Given the description of an element on the screen output the (x, y) to click on. 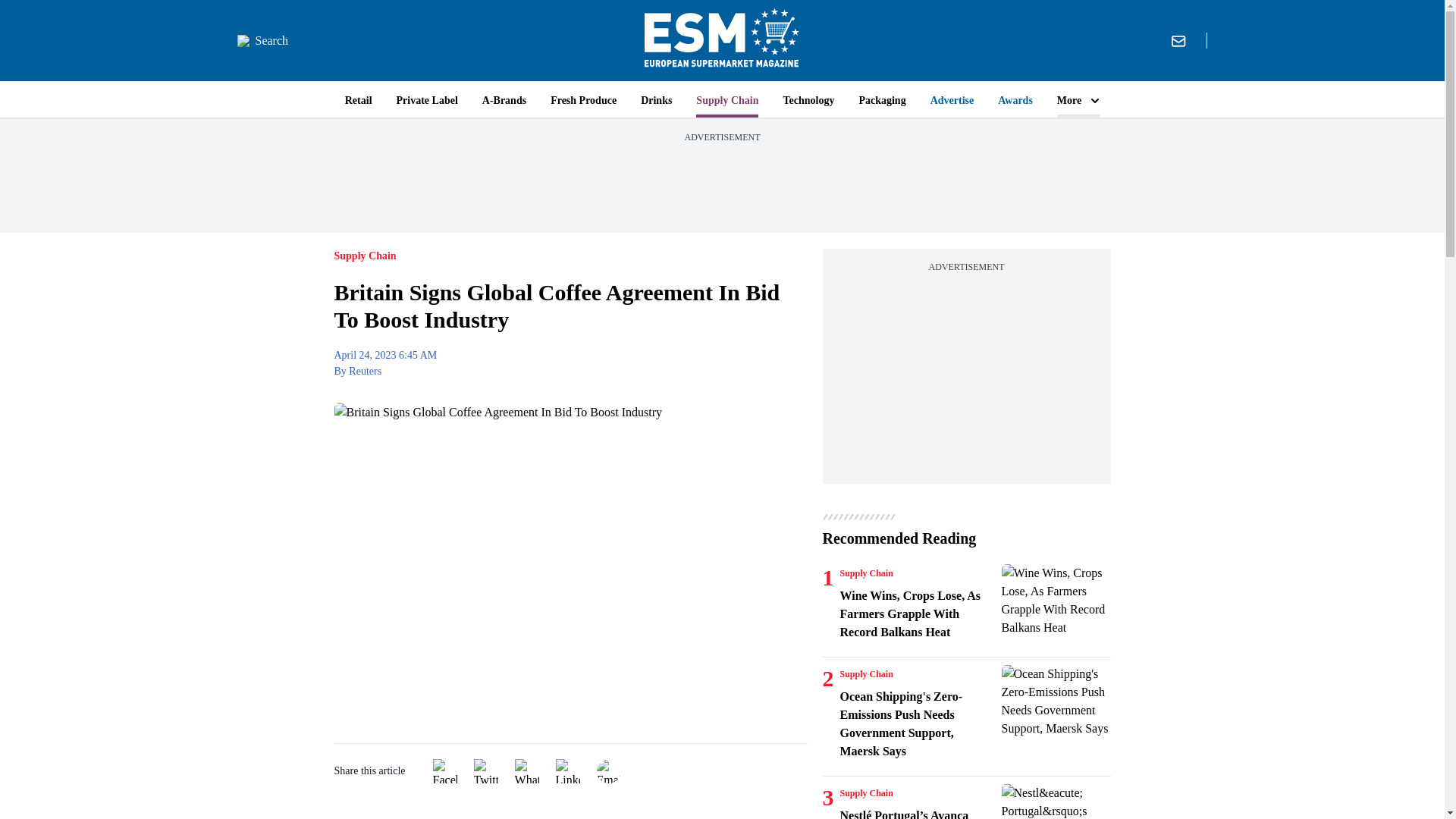
Supply Chain (866, 573)
ESM (722, 40)
Search (261, 40)
Supply Chain (866, 793)
Supply Chain (866, 674)
